Given the description of an element on the screen output the (x, y) to click on. 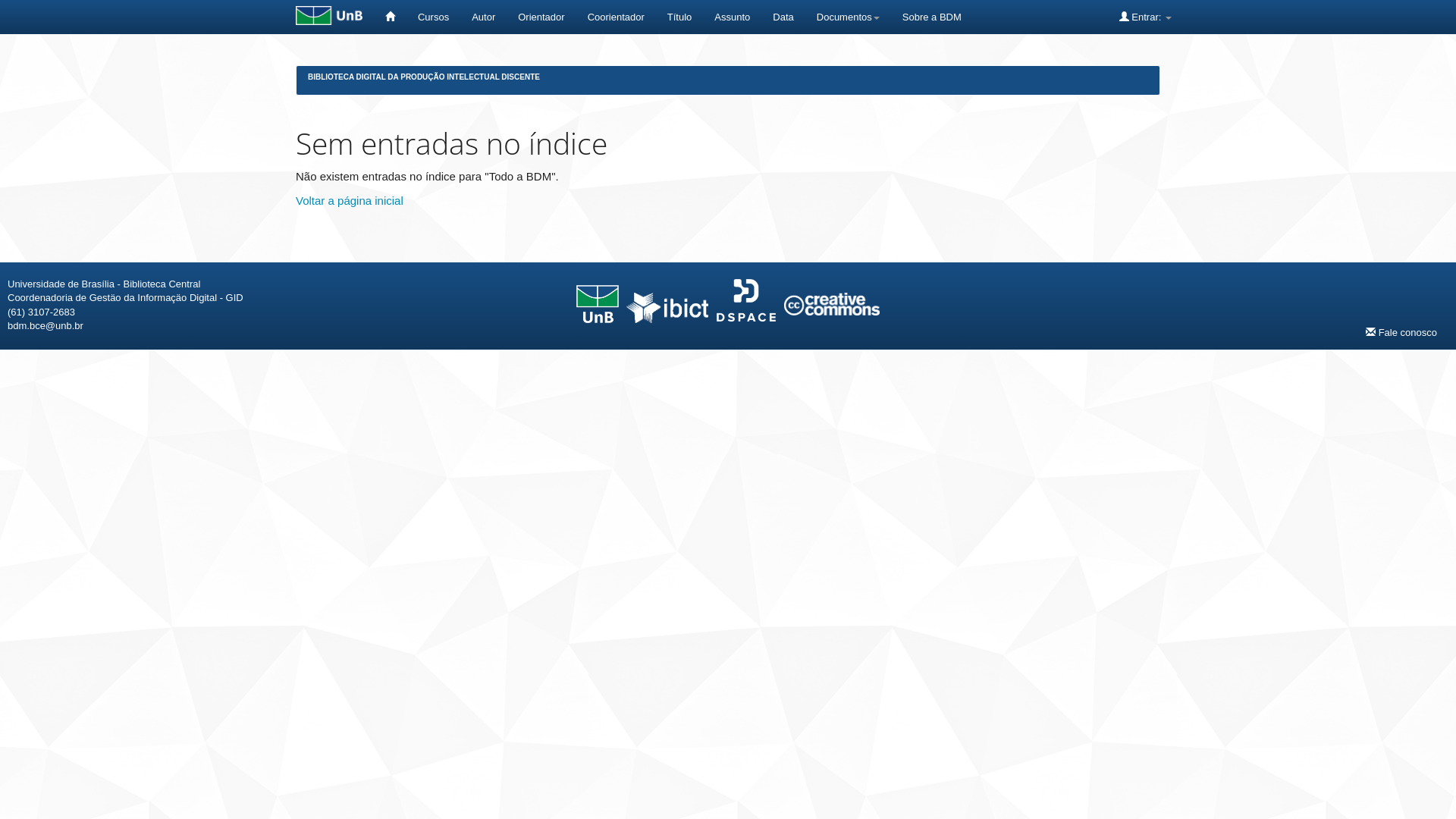
Entrar: Element type: text (1145, 17)
Assunto Element type: text (731, 17)
Data Element type: text (782, 17)
Documentos Element type: text (848, 17)
Fale conosco Element type: text (1401, 332)
Sobre a BDM Element type: text (931, 17)
Autor Element type: text (483, 17)
Coorientador Element type: text (615, 17)
Orientador Element type: text (540, 17)
Cursos Element type: text (433, 17)
